Given the description of an element on the screen output the (x, y) to click on. 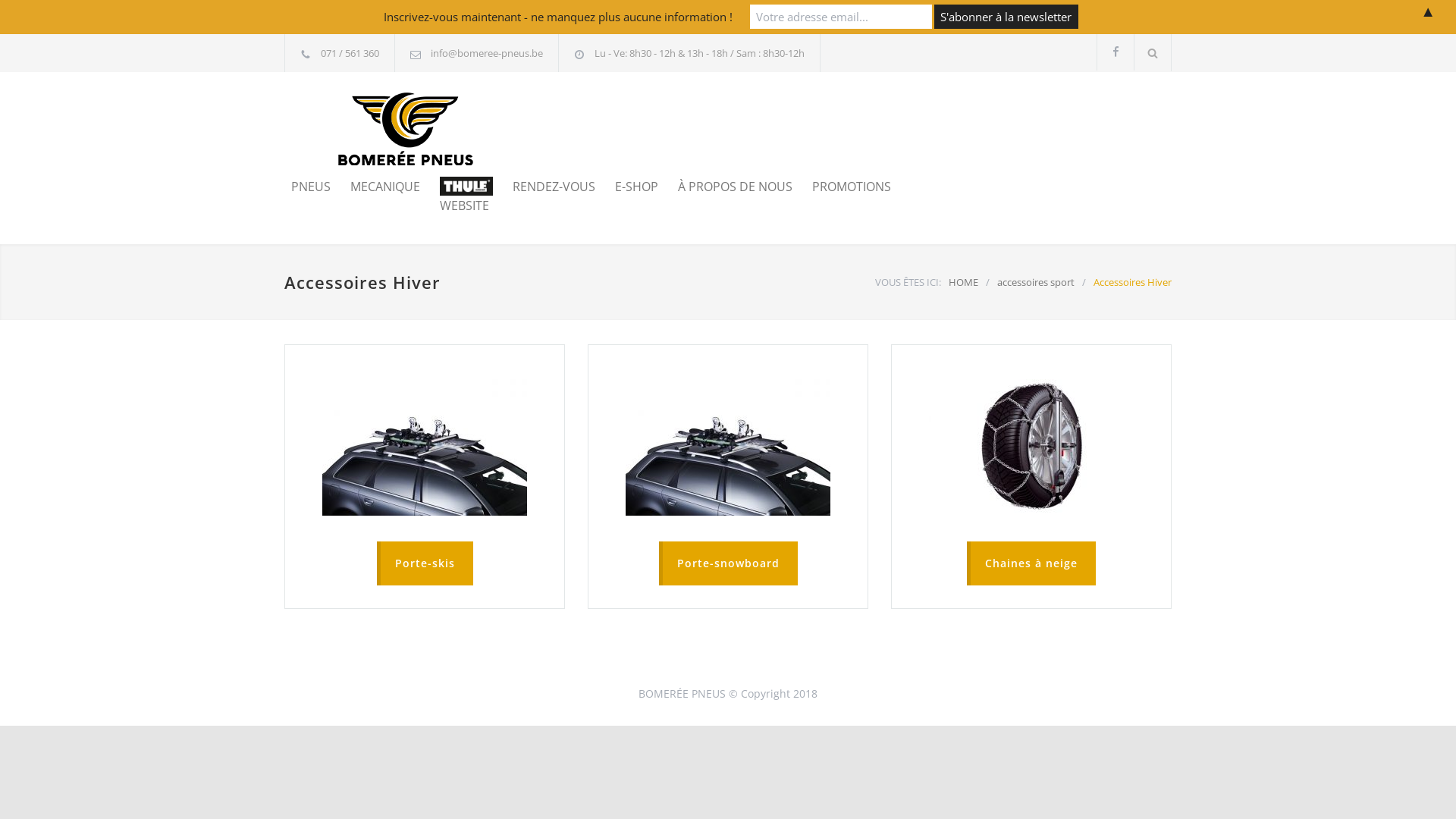
WEBSITE Element type: text (456, 195)
Search Element type: hover (1152, 52)
MECANIQUE Element type: text (375, 186)
HOME Element type: text (963, 281)
PNEUS Element type: text (310, 186)
E-SHOP Element type: text (626, 186)
accessoires sport Element type: text (1035, 281)
PROMOTIONS Element type: text (841, 186)
Porte-skis Element type: text (424, 563)
RENDEZ-VOUS Element type: text (543, 186)
info@bomeree-pneus.be Element type: text (486, 52)
Porte-snowboard Element type: text (727, 563)
